Given the description of an element on the screen output the (x, y) to click on. 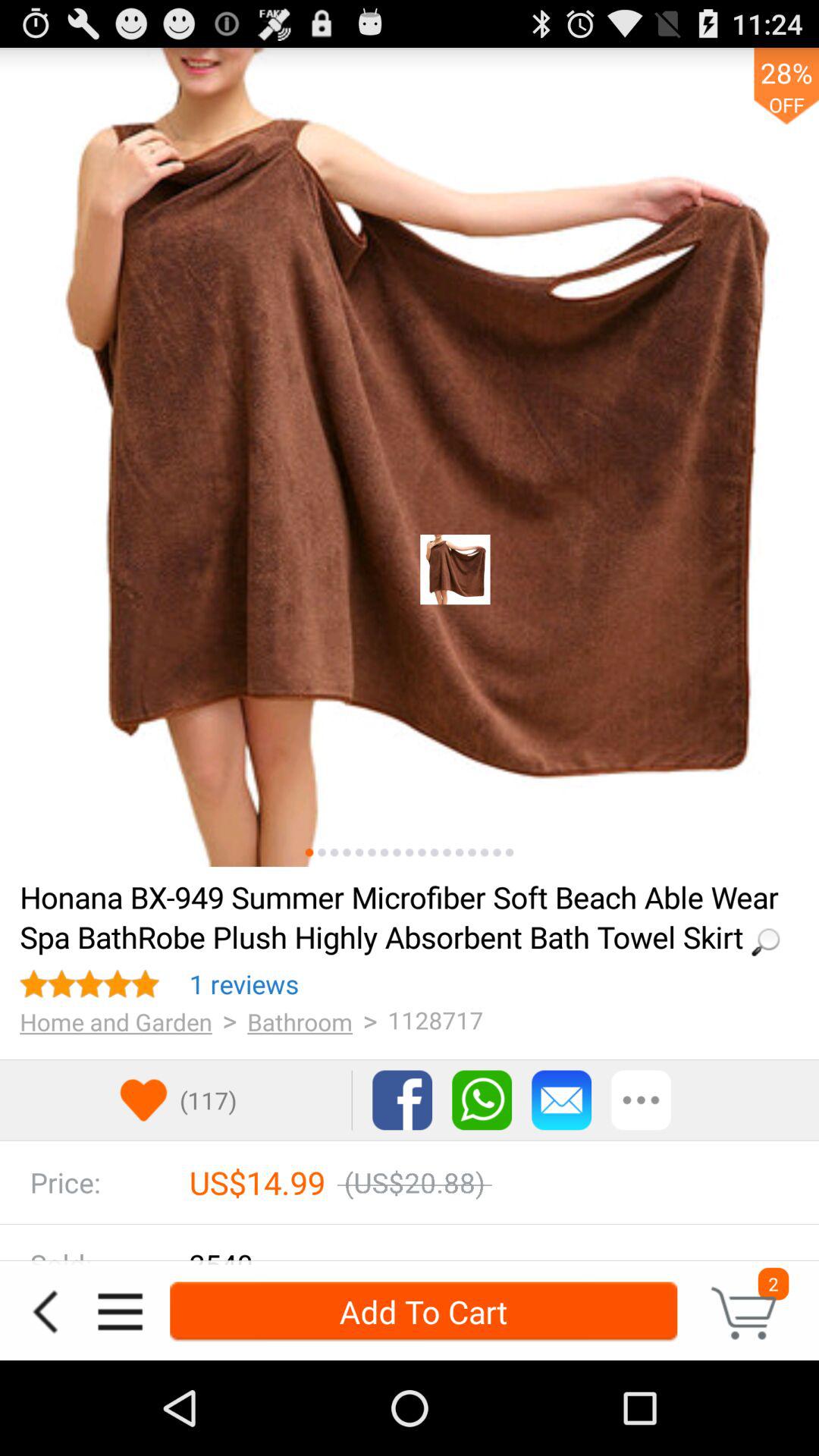
go back (45, 1311)
